Given the description of an element on the screen output the (x, y) to click on. 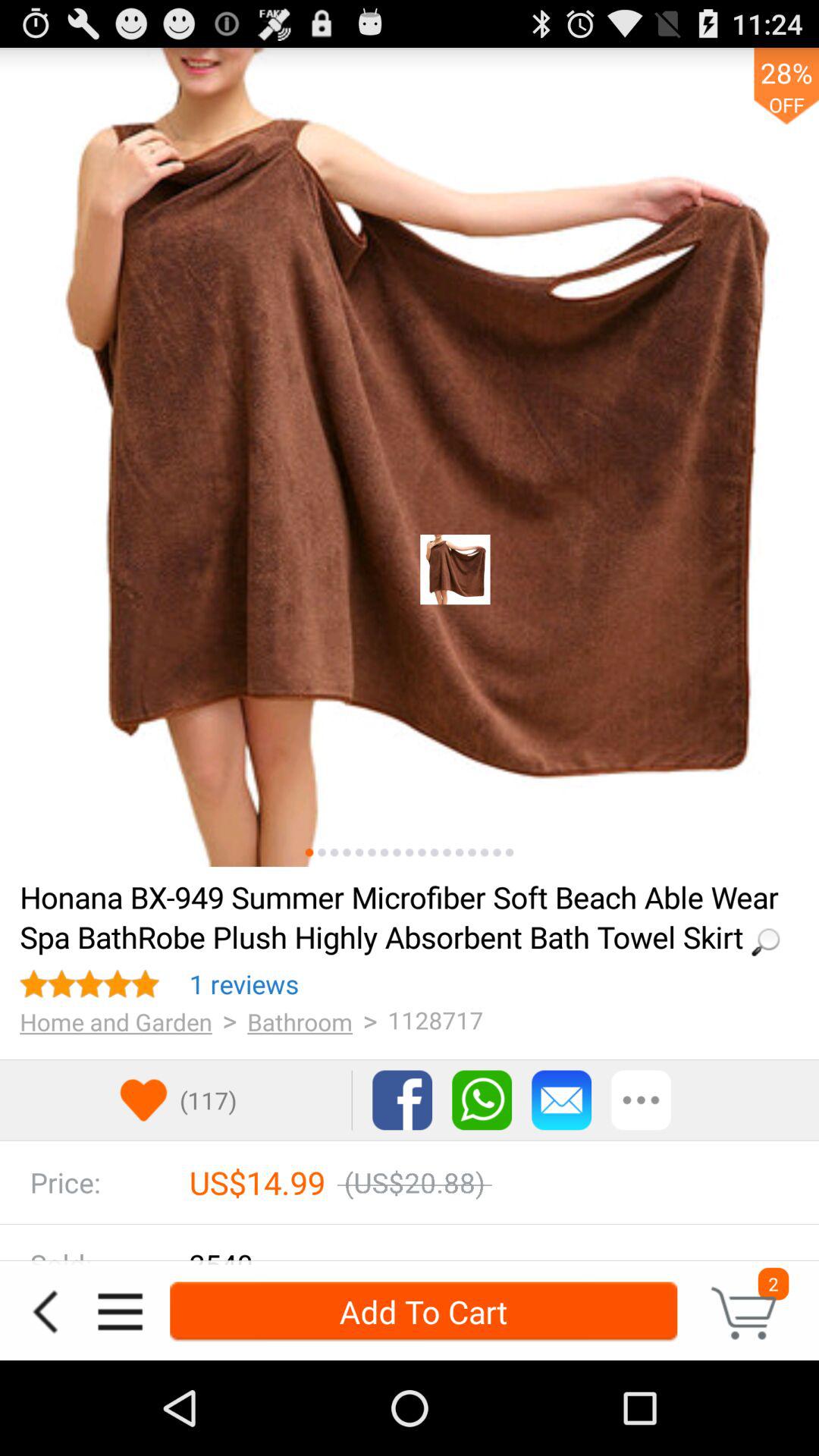
go back (45, 1311)
